Given the description of an element on the screen output the (x, y) to click on. 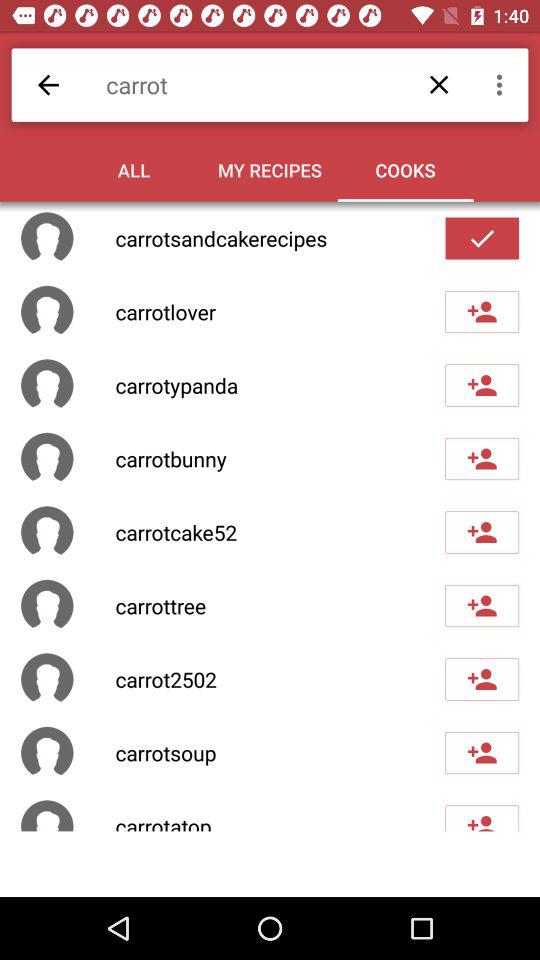
add to list (482, 312)
